Given the description of an element on the screen output the (x, y) to click on. 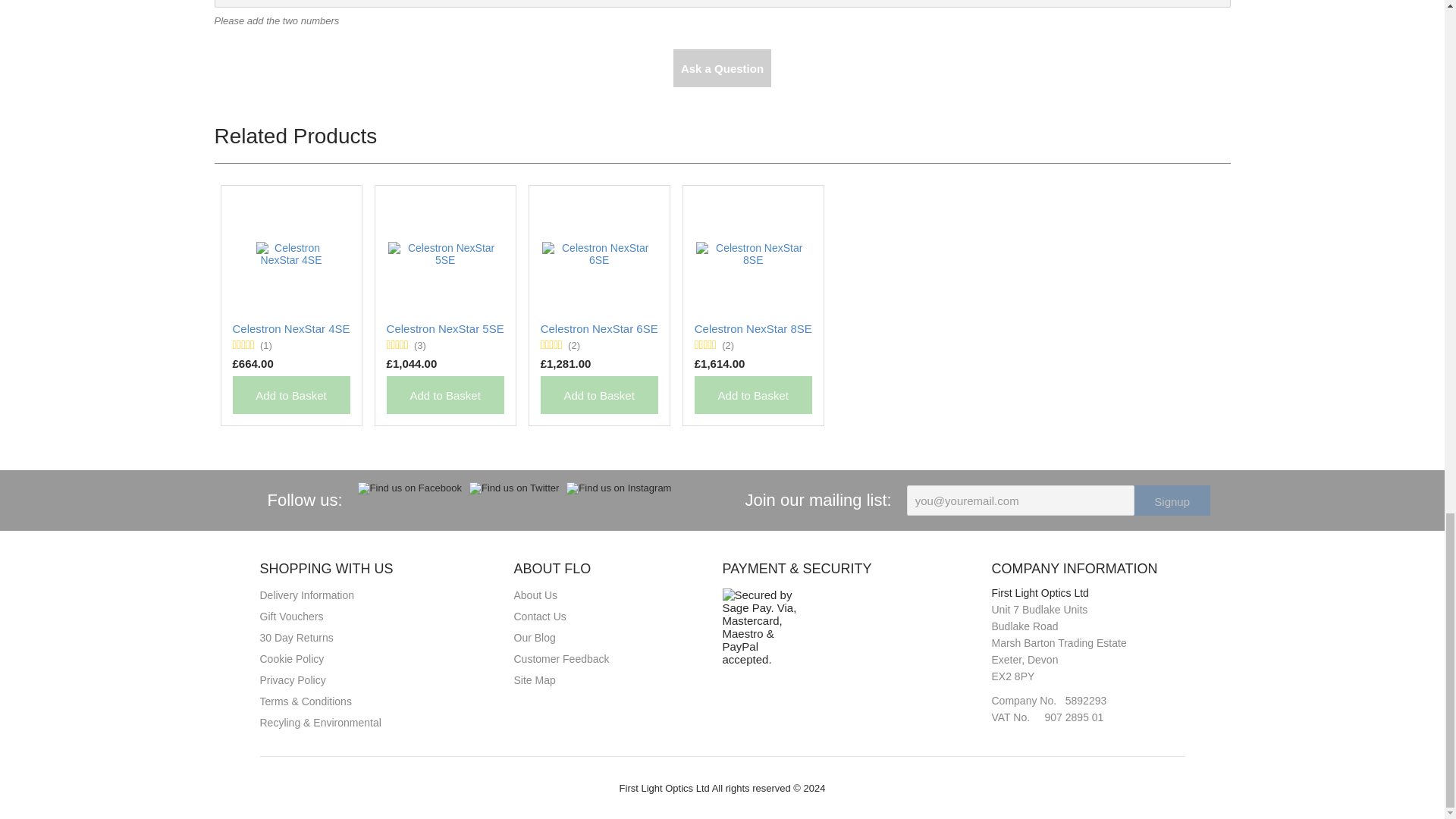
30 day no hassle returns (296, 637)
Celestron NexStar 4SE (290, 328)
Celestron NexStar 8SE (753, 328)
Add to Basket (599, 394)
Add to Basket (753, 394)
Add to Basket (290, 394)
Celestron NexStar 8SE (753, 328)
Celestron NexStar 5SE (445, 328)
Celestron NexStar 5SE (445, 253)
Celestron NexStar 8SE (752, 253)
Celestron NexStar 6SE (598, 253)
Ask a Question (721, 67)
Celestron NexStar 5SE (445, 328)
Celestron NexStar 6SE (599, 328)
Add to Basket (445, 394)
